Given the description of an element on the screen output the (x, y) to click on. 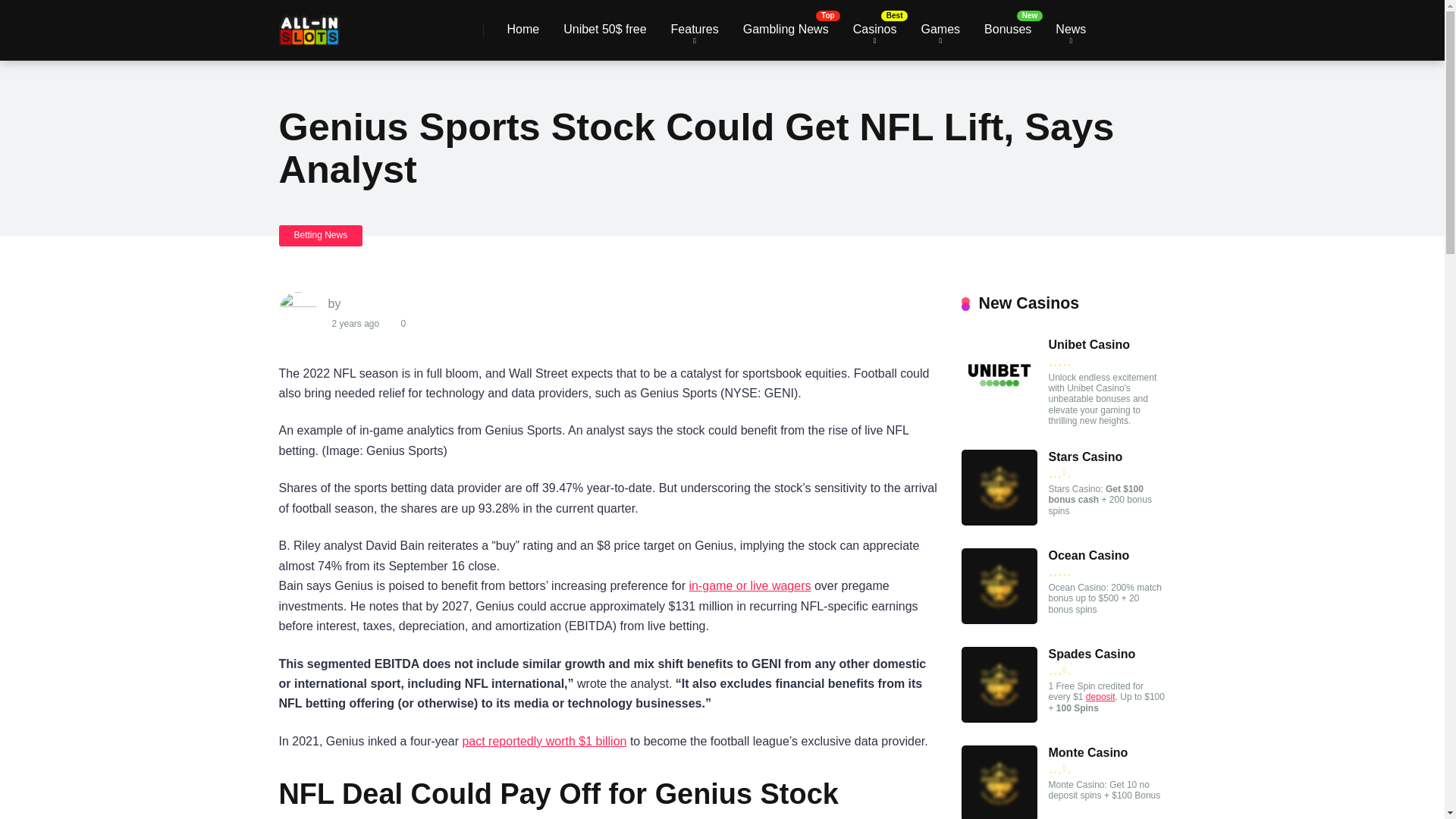
Ocean Casino (1088, 555)
Stars Casino (1085, 457)
Unibet Casino (1088, 345)
Ocean Casino (998, 619)
Bonuses (1007, 30)
Home (523, 30)
Unibet Casino (998, 408)
Spades Casino (998, 717)
Betting News (320, 235)
Features (694, 30)
